Given the description of an element on the screen output the (x, y) to click on. 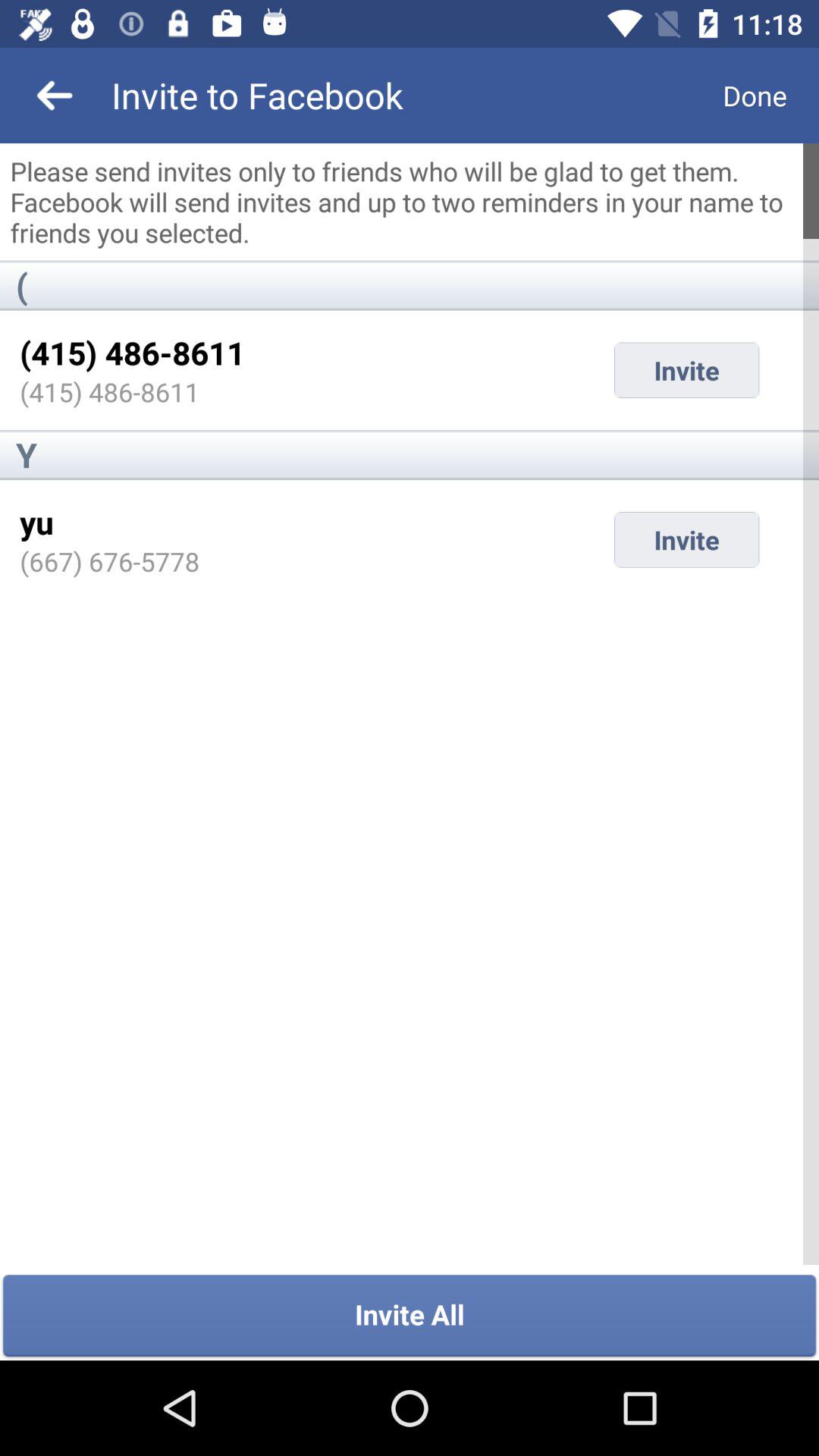
launch item above the invite all icon (109, 560)
